Given the description of an element on the screen output the (x, y) to click on. 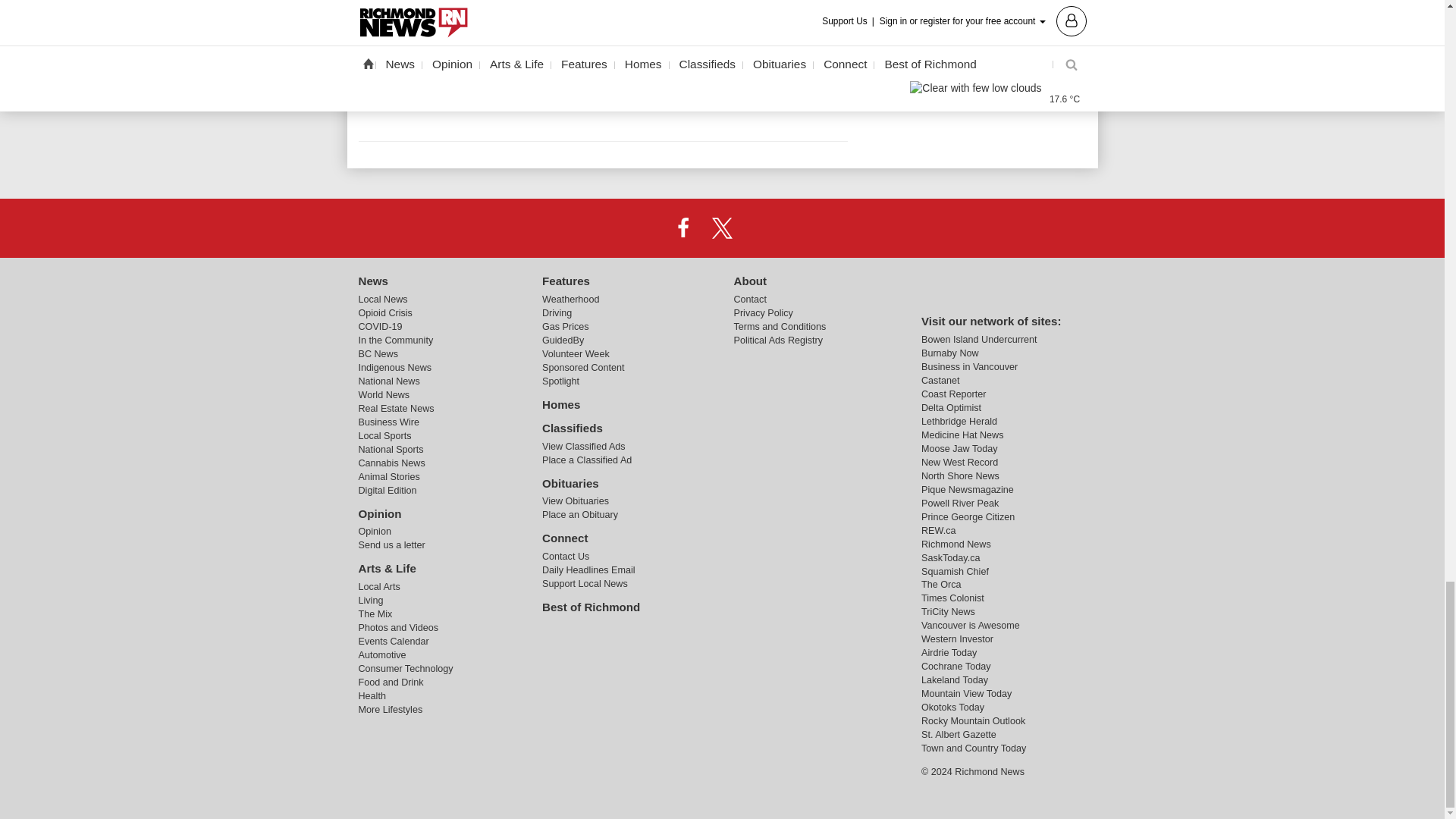
X (721, 227)
Facebook (683, 227)
Instagram (760, 227)
